Given the description of an element on the screen output the (x, y) to click on. 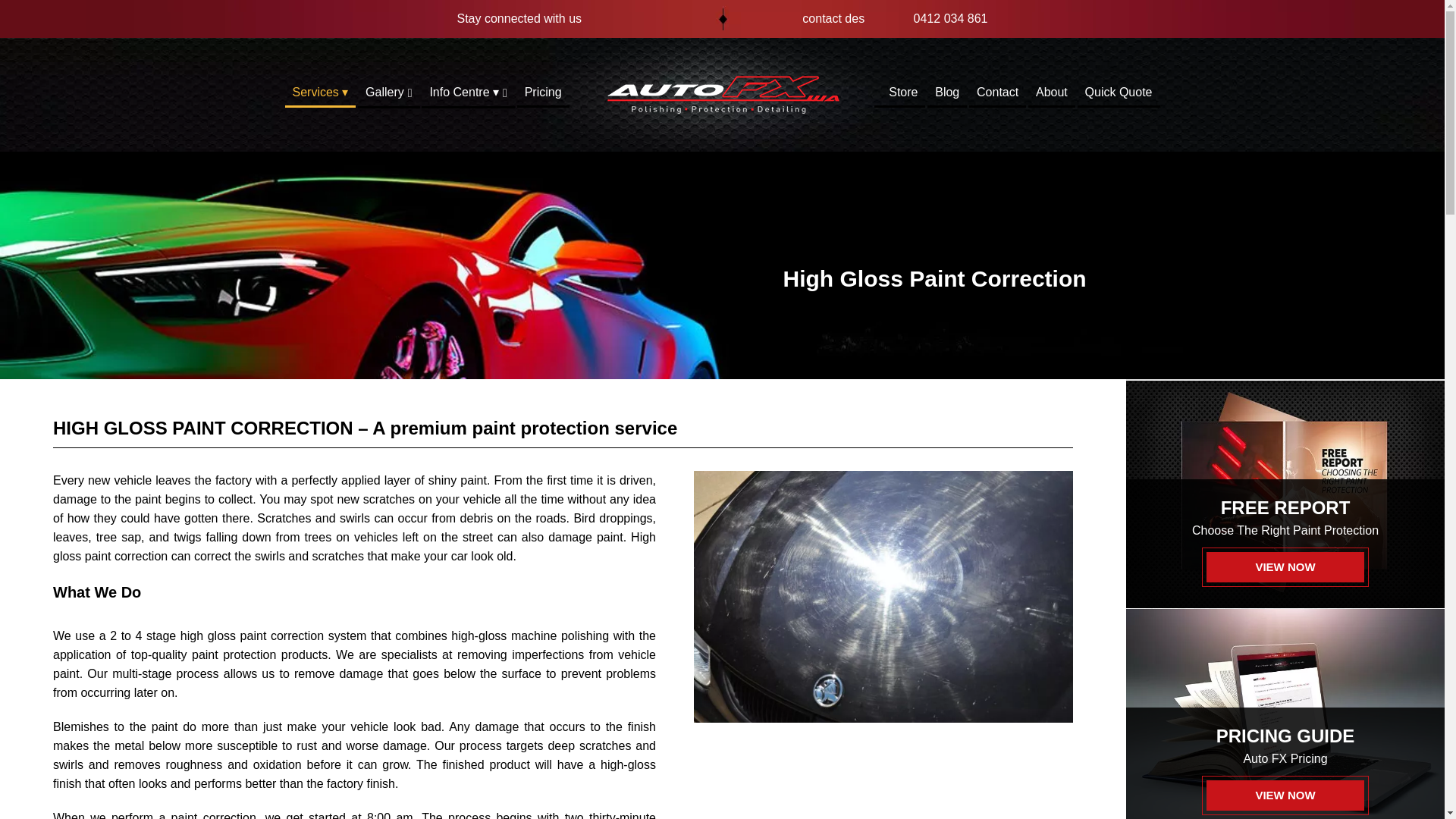
Quick Quote (1118, 96)
Contact (997, 96)
  Store (899, 95)
contact des (816, 18)
About (1051, 96)
AutoFX WA (721, 94)
Pricing (542, 96)
0412 034 861 (933, 18)
Gallery (389, 96)
Blog (946, 96)
